Given the description of an element on the screen output the (x, y) to click on. 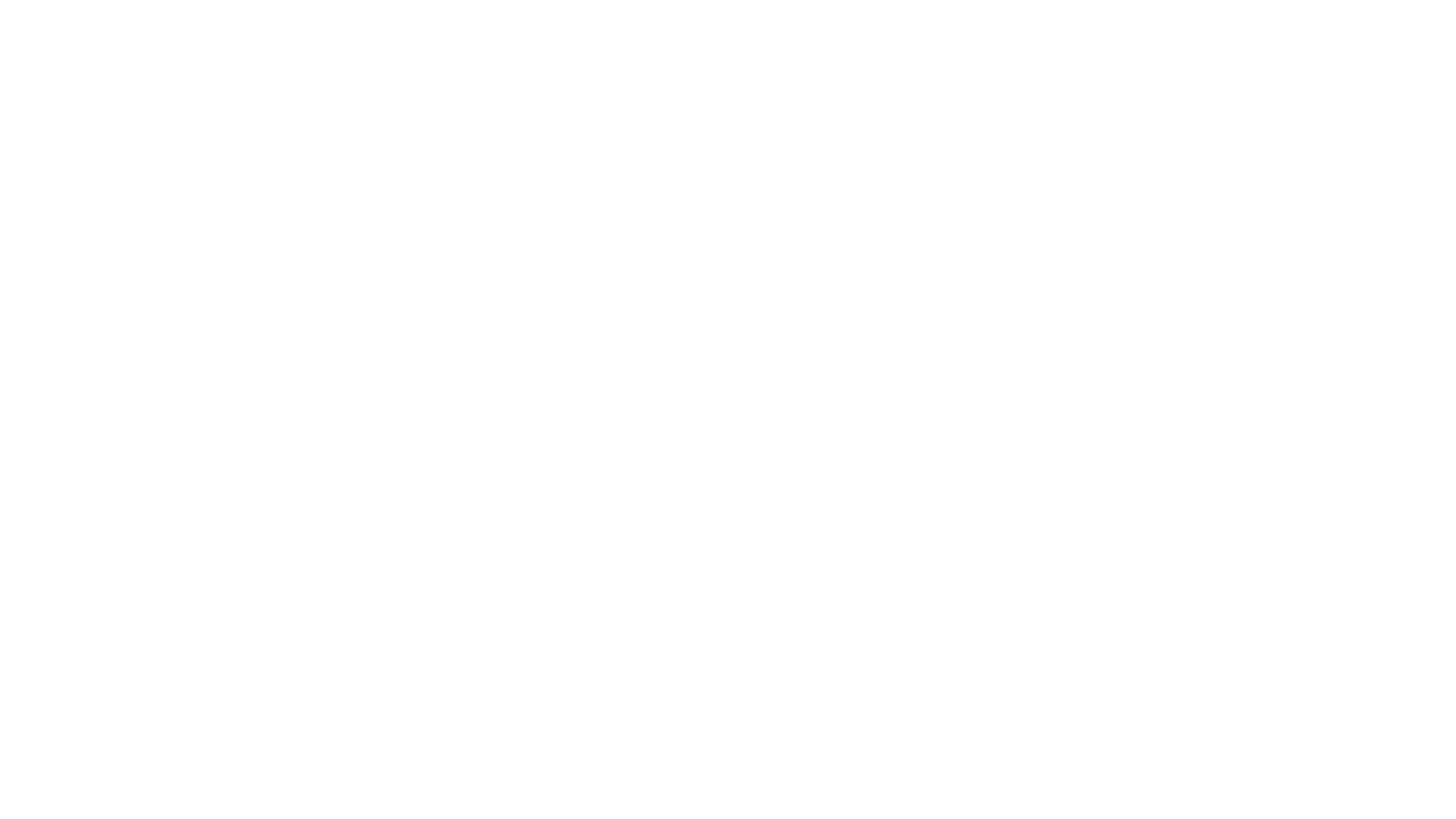
Pinterest Element type: text (1068, 223)
Email Element type: text (1397, 223)
Twitter Element type: text (735, 223)
Home Element type: text (18, 99)
Facebook Element type: text (399, 223)
Categories Element type: text (73, 99)
